Given the description of an element on the screen output the (x, y) to click on. 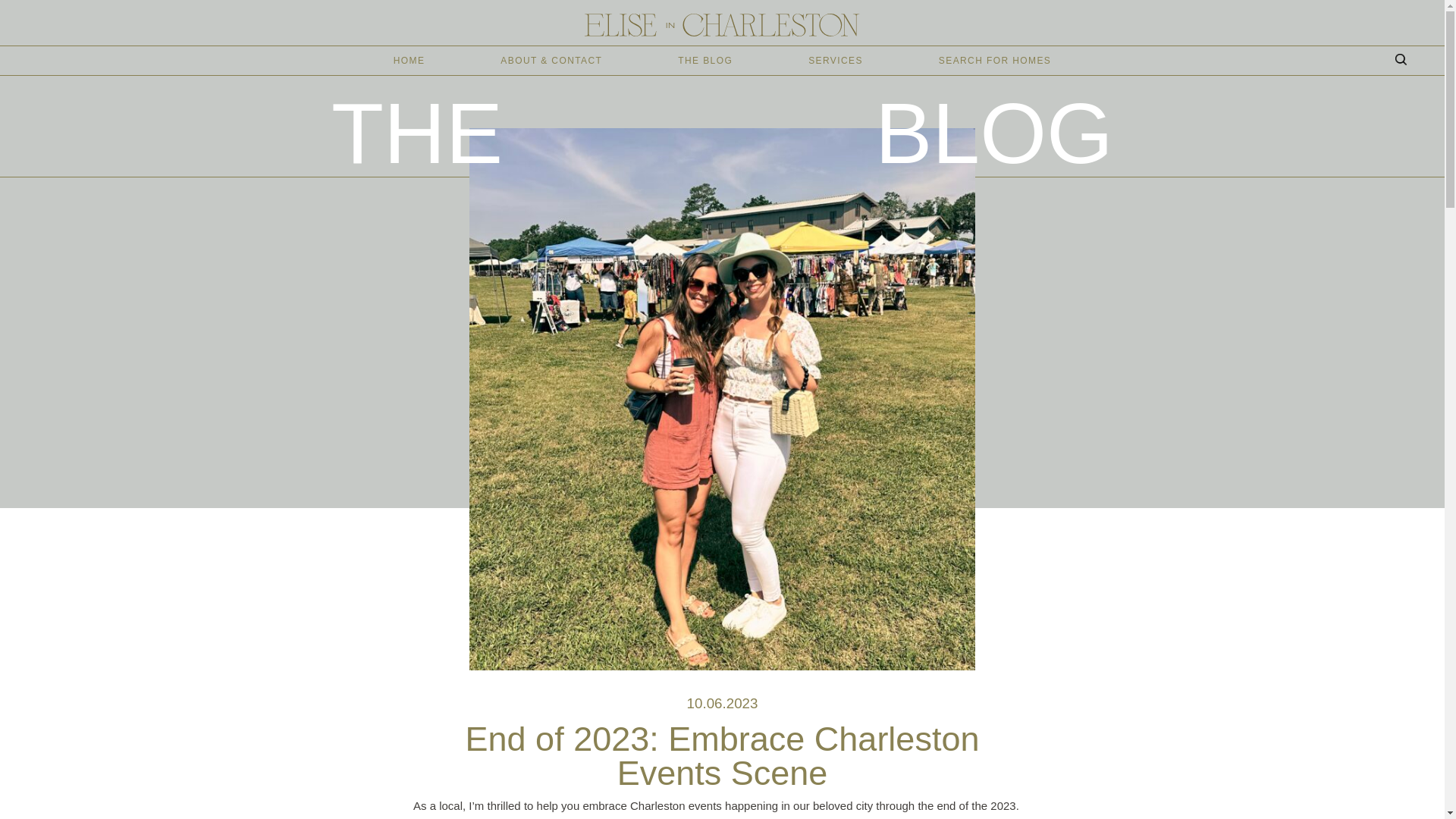
THE BLOG (705, 60)
SEARCH FOR HOMES (995, 60)
HOME (409, 60)
SERVICES (835, 60)
